Given the description of an element on the screen output the (x, y) to click on. 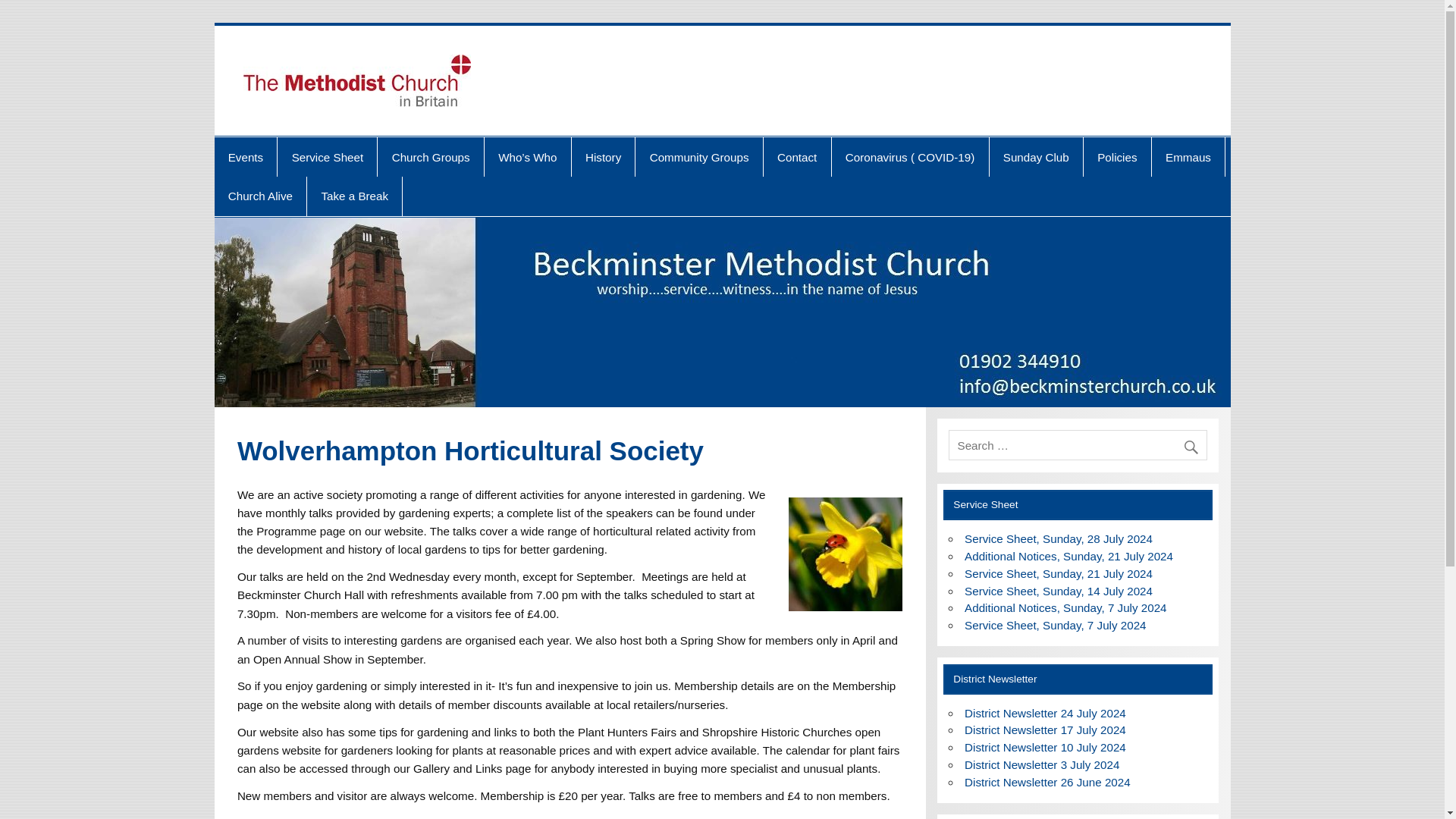
Service Sheet, Sunday, 21 July 2024 (1058, 573)
Service Sheet, Sunday, 7 July 2024 (1055, 625)
Sunday Club (1036, 156)
District Newsletter 3 July 2024 (1041, 764)
District Newsletter 26 June 2024 (1047, 781)
Beckminster Methodist Church (700, 69)
Policies (1117, 156)
District Newsletter 24 July 2024 (1044, 712)
Take a Break (354, 196)
Church Alive (259, 196)
Service Sheet, Sunday, 28 July 2024 (1058, 538)
Church Groups (430, 156)
Emmaus (1187, 156)
Events (245, 156)
District Newsletter 10 July 2024 (1044, 747)
